Given the description of an element on the screen output the (x, y) to click on. 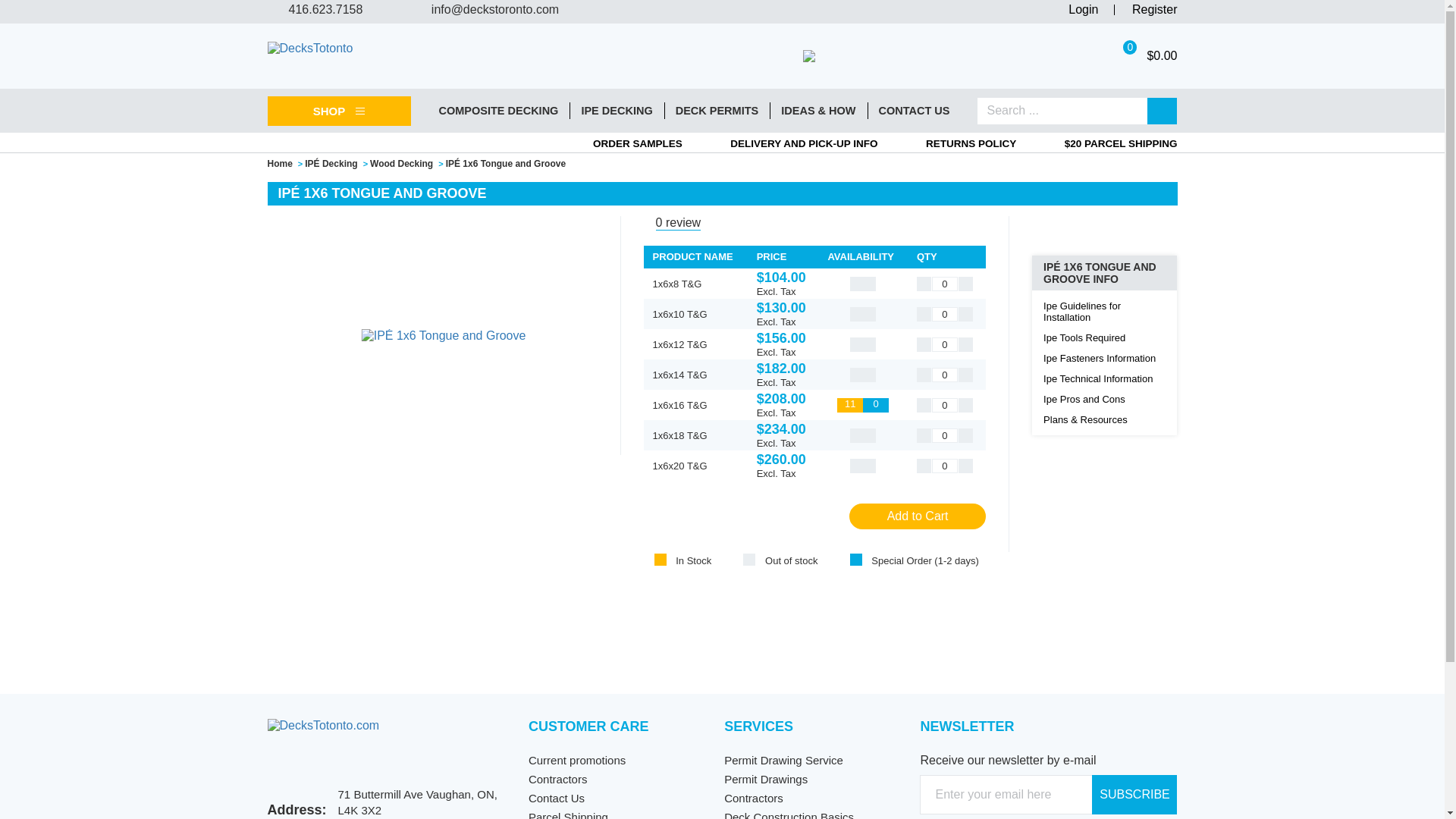
0 (944, 283)
Register (1154, 9)
416.623.7158 (328, 9)
0 (944, 373)
0 (944, 464)
0 (944, 343)
0 (944, 404)
Login (1082, 9)
0 (944, 313)
SHOP (338, 110)
0 (944, 434)
